Given the description of an element on the screen output the (x, y) to click on. 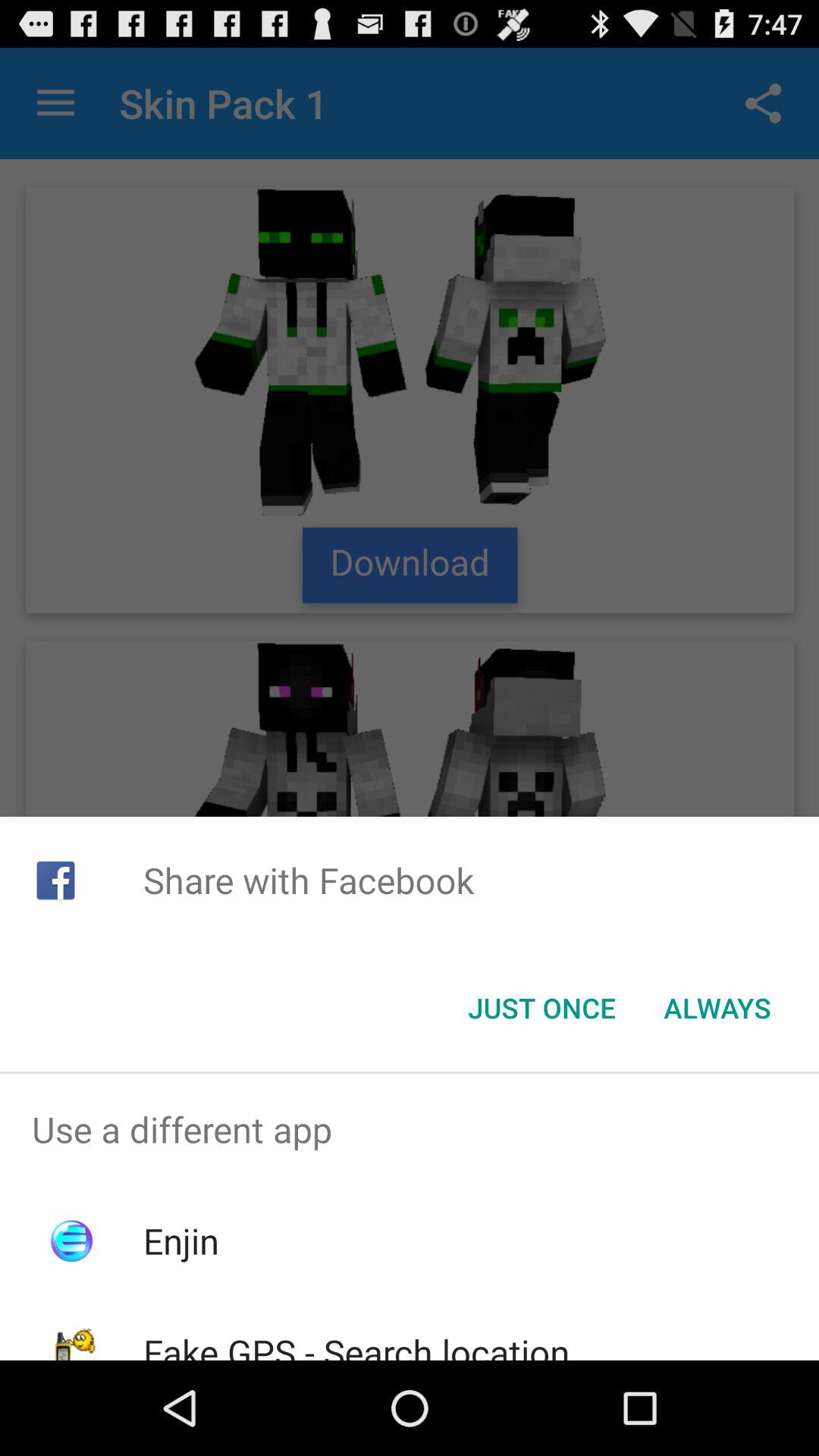
flip to the use a different app (409, 1129)
